Given the description of an element on the screen output the (x, y) to click on. 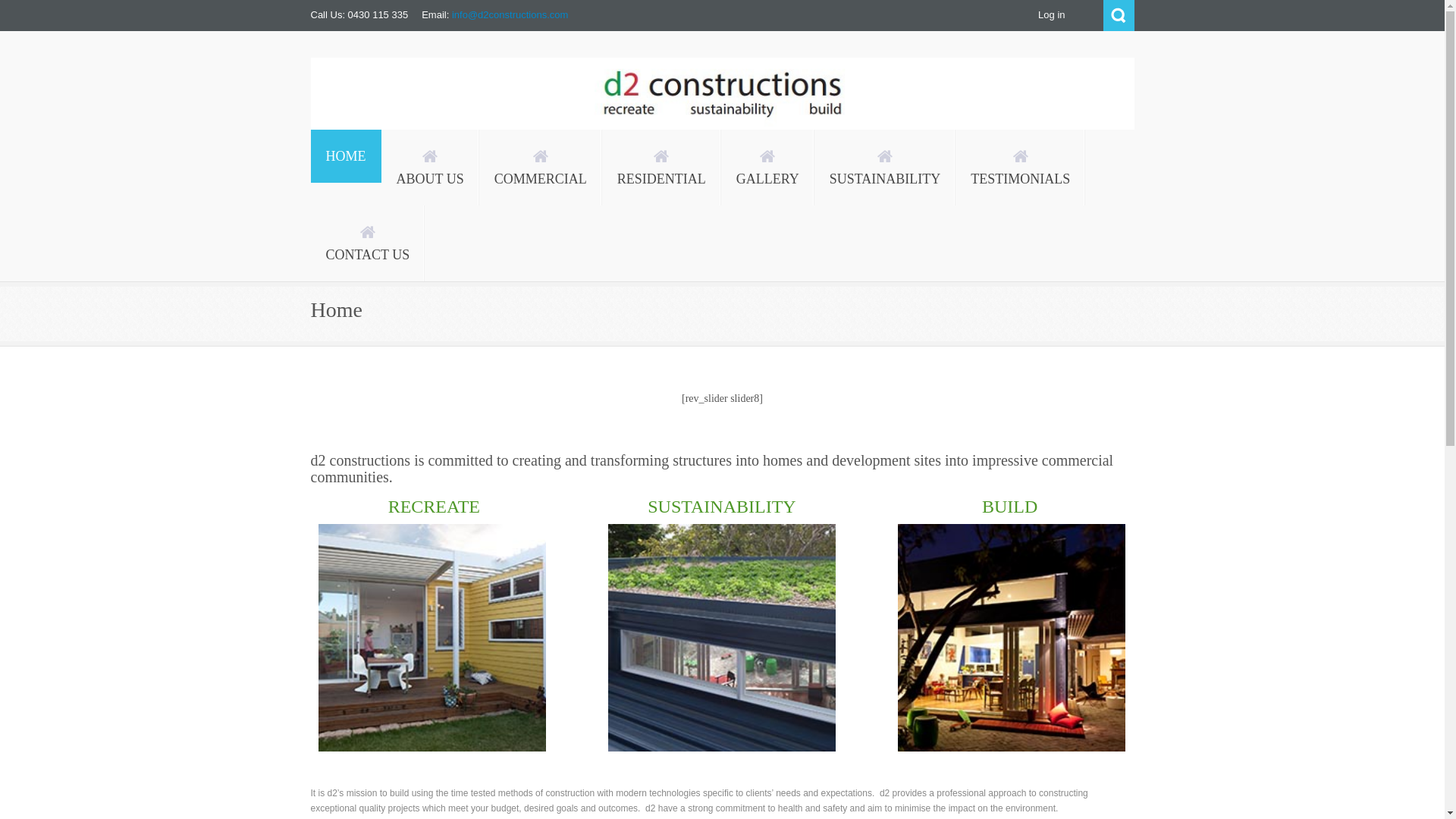
ABOUT US Element type: text (429, 167)
COMMERCIAL Element type: text (540, 167)
d2 constructions Element type: text (390, 142)
RECREATE       Element type: text (447, 506)
GALLERY Element type: text (767, 167)
CONTACT US Element type: text (367, 243)
SUSTAINABILITY Element type: text (721, 506)
Search Element type: text (1117, 15)
HOME Element type: text (345, 155)
Log in Element type: text (1051, 14)
info@d2constructions.com Element type: text (509, 14)
SUSTAINABILITY Element type: text (885, 167)
TESTIMONIALS Element type: text (1020, 167)
RESIDENTIAL Element type: text (661, 167)
      BUILD Element type: text (995, 506)
